Given the description of an element on the screen output the (x, y) to click on. 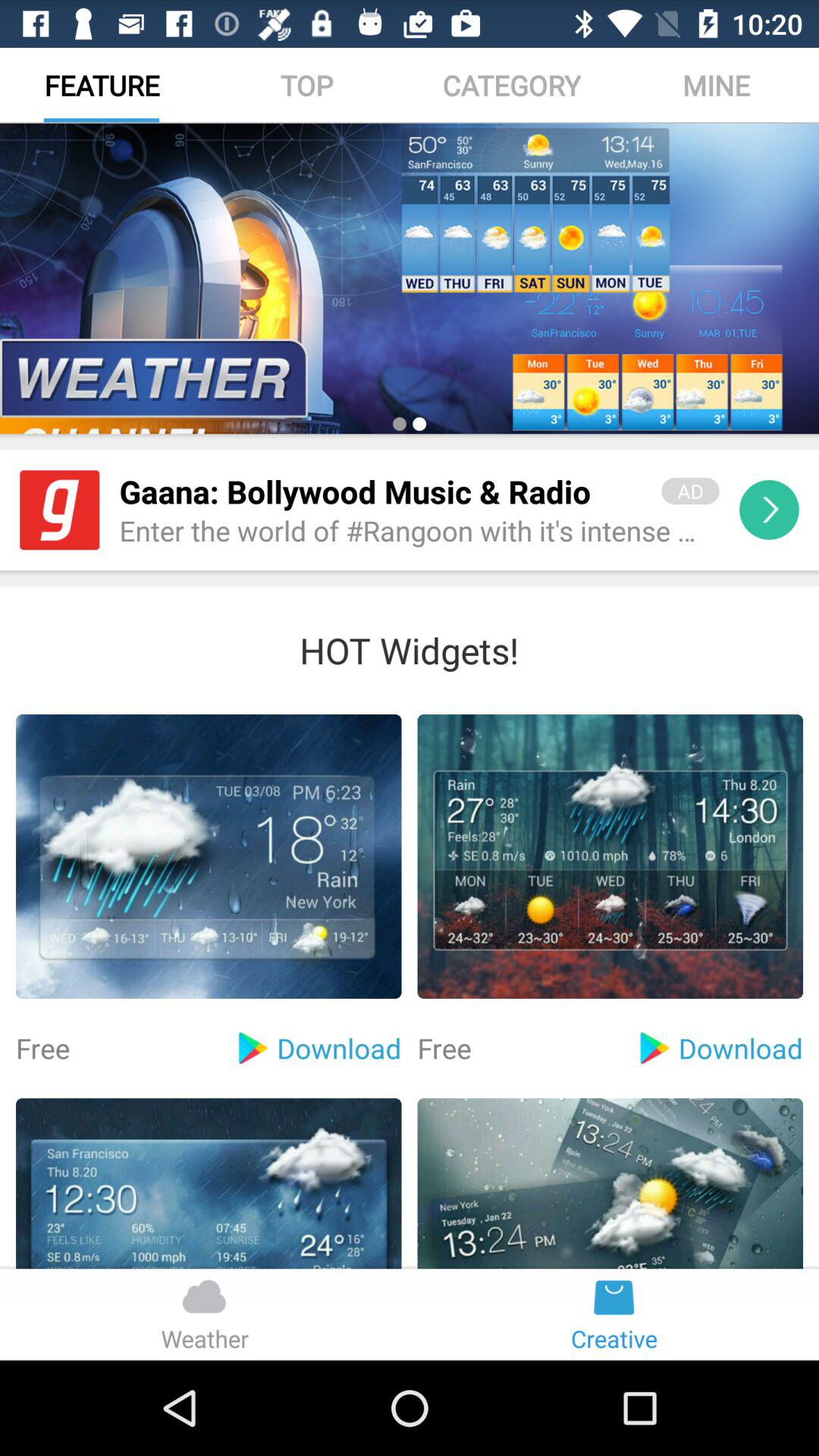
jump until enter the world icon (419, 531)
